Given the description of an element on the screen output the (x, y) to click on. 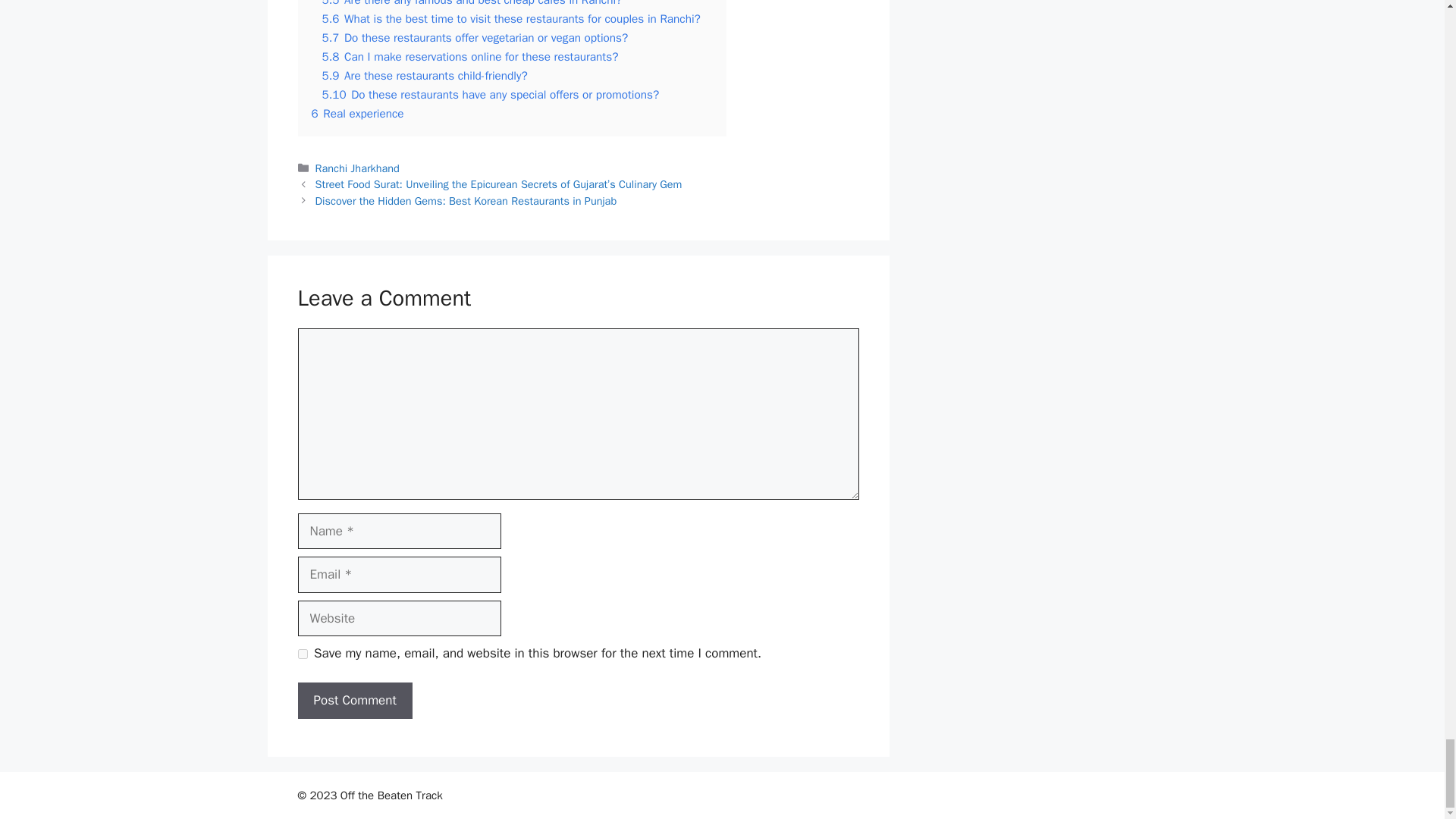
yes (302, 654)
5.7 Do these restaurants offer vegetarian or vegan options? (474, 37)
6 Real experience (357, 113)
Post Comment (354, 700)
5.8 Can I make reservations online for these restaurants? (469, 56)
Discover the Hidden Gems: Best Korean Restaurants in Punjab (466, 201)
5.5 Are there any famous and best cheap cafes in Ranchi? (471, 3)
Ranchi Jharkhand (356, 168)
